Given the description of an element on the screen output the (x, y) to click on. 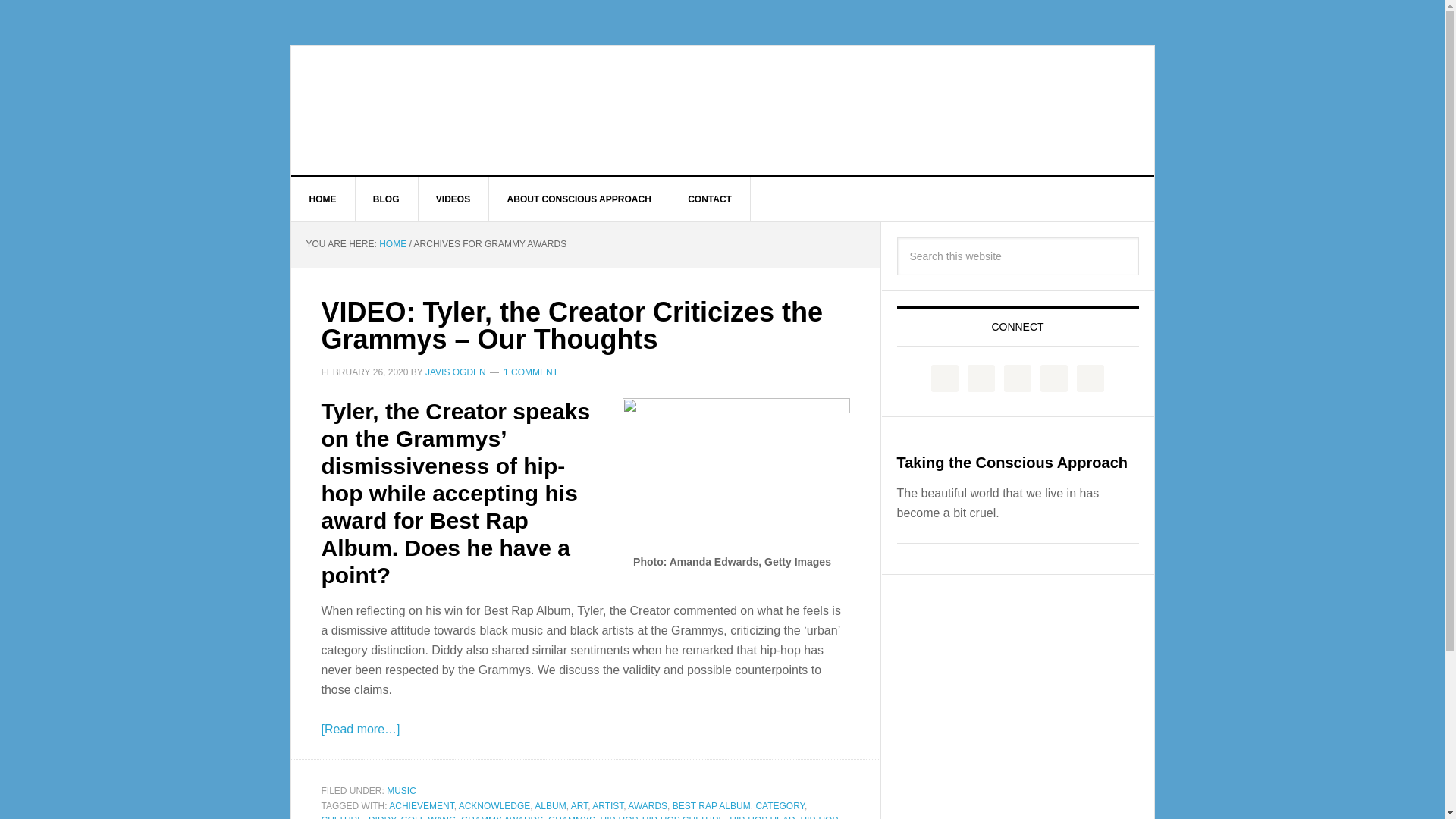
ACHIEVEMENT (420, 805)
JAVIS OGDEN (455, 371)
ACKNOWLEDGE (494, 805)
ABOUT CONSCIOUS APPROACH (579, 199)
DIDDY (382, 816)
MUSIC (401, 790)
CATEGORY (780, 805)
VIDEOS (453, 199)
